Given the description of an element on the screen output the (x, y) to click on. 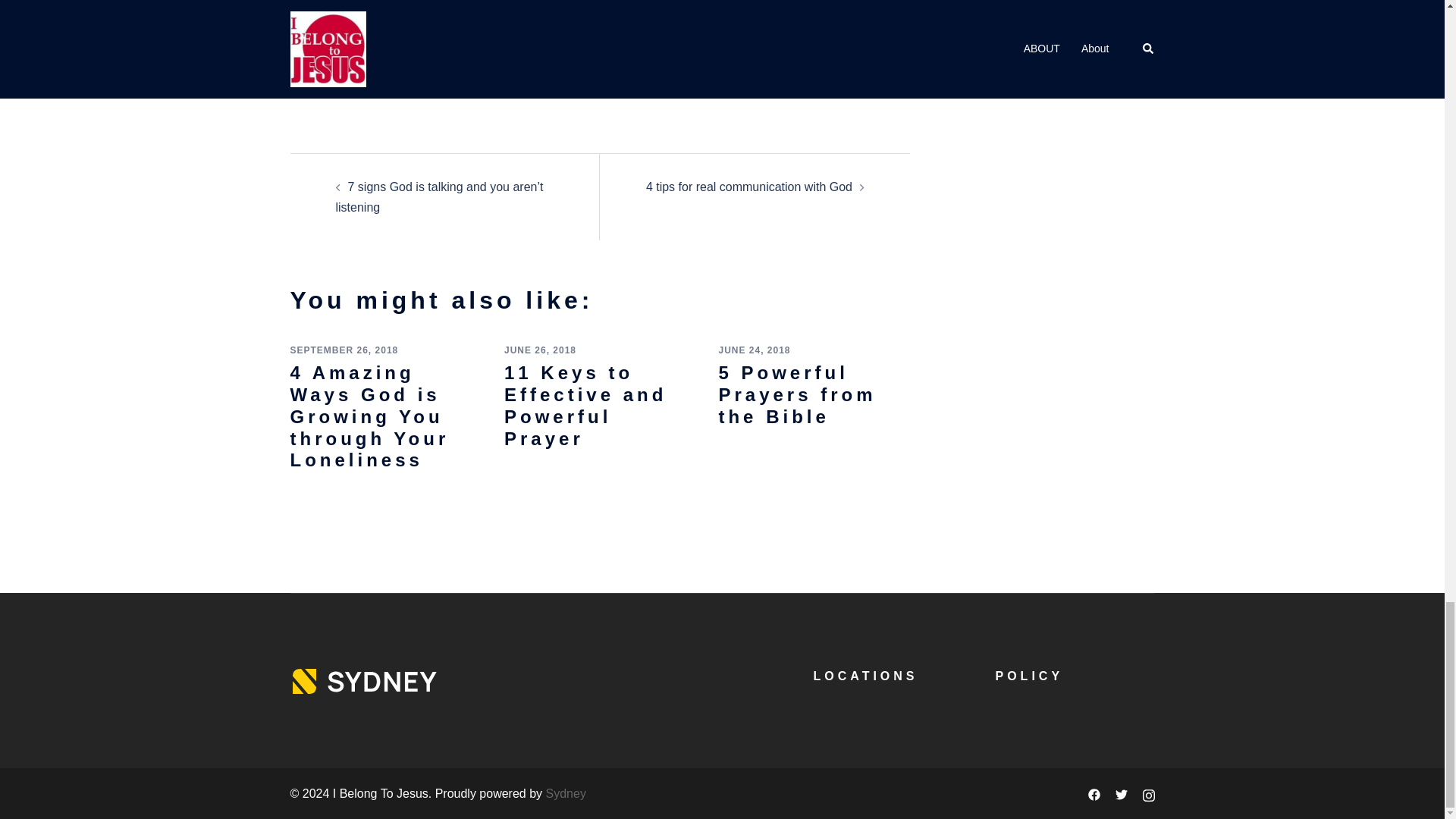
4 Amazing Ways God is Growing You through Your Loneliness (368, 416)
4 tips for real communication with God (748, 186)
SEPTEMBER 26, 2018 (343, 349)
JUNE 24, 2018 (753, 349)
JUNE 26, 2018 (539, 349)
5 Powerful Prayers from the Bible (796, 394)
11 Keys to Effective and Powerful Prayer (584, 404)
